Given the description of an element on the screen output the (x, y) to click on. 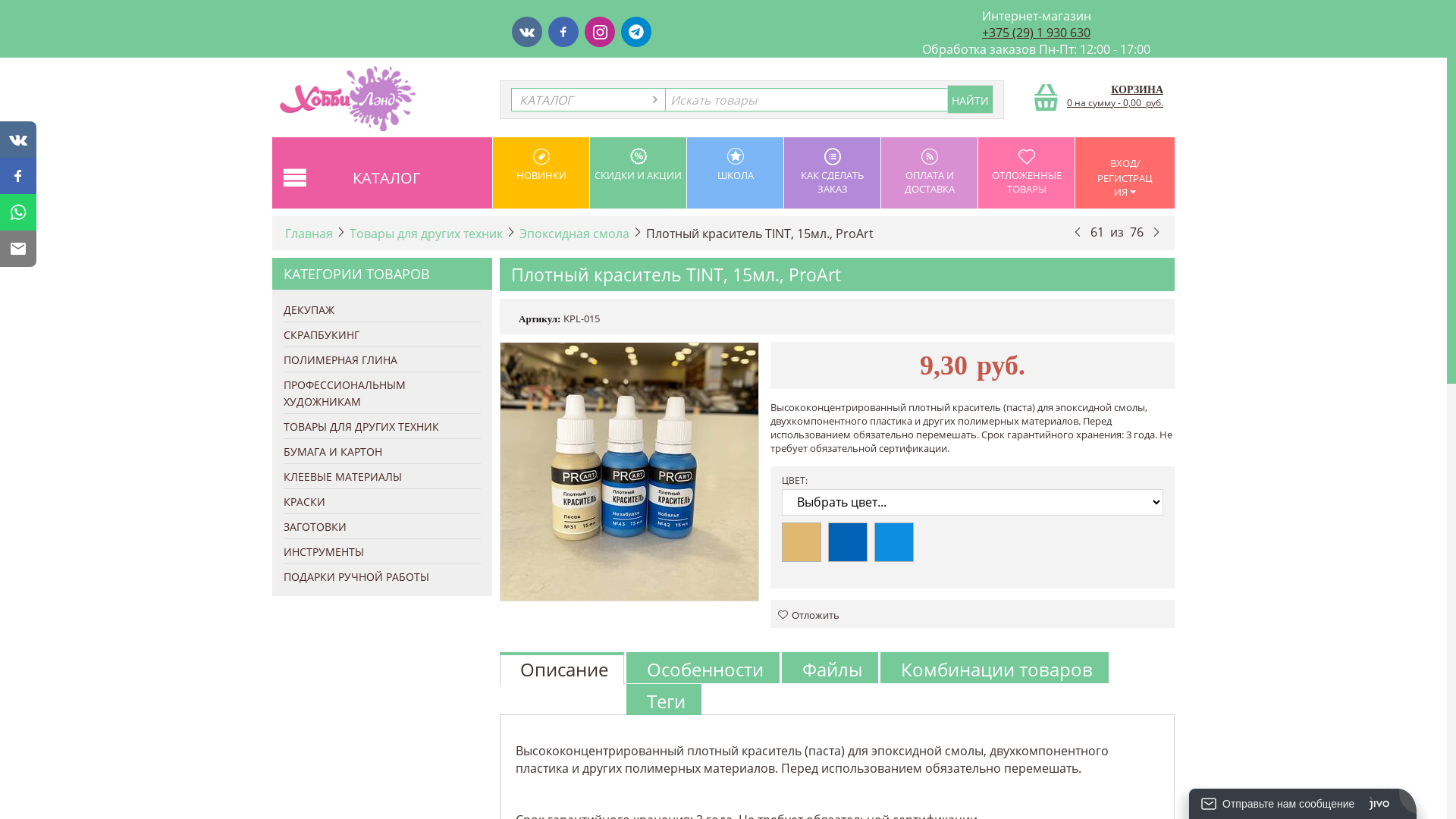
+375 (29) 1 930 630 Element type: text (1036, 32)
